Given the description of an element on the screen output the (x, y) to click on. 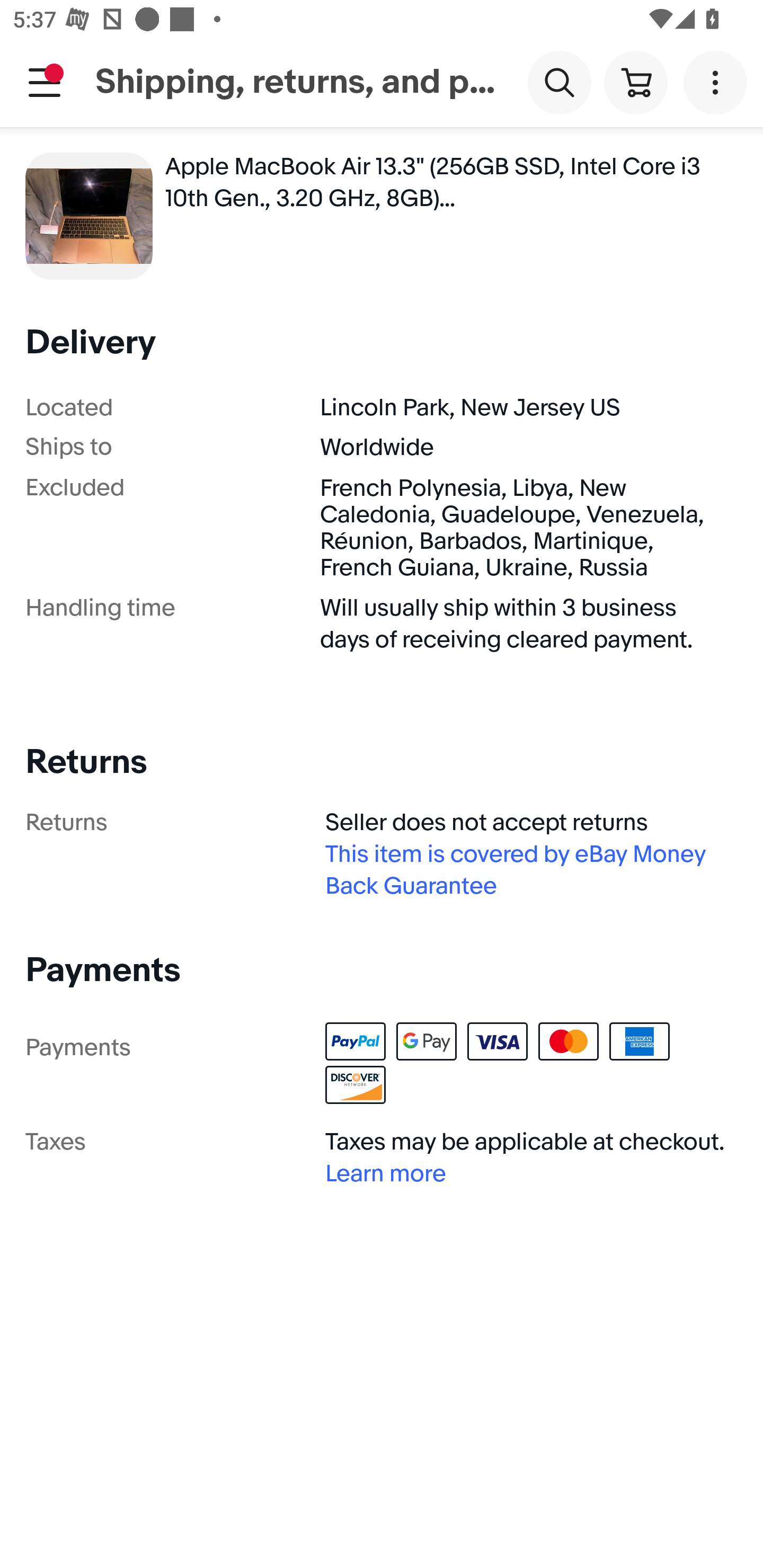
Main navigation, notification is pending, open (44, 82)
Search (559, 81)
Cart button shopping cart (635, 81)
More options (718, 81)
